Given the description of an element on the screen output the (x, y) to click on. 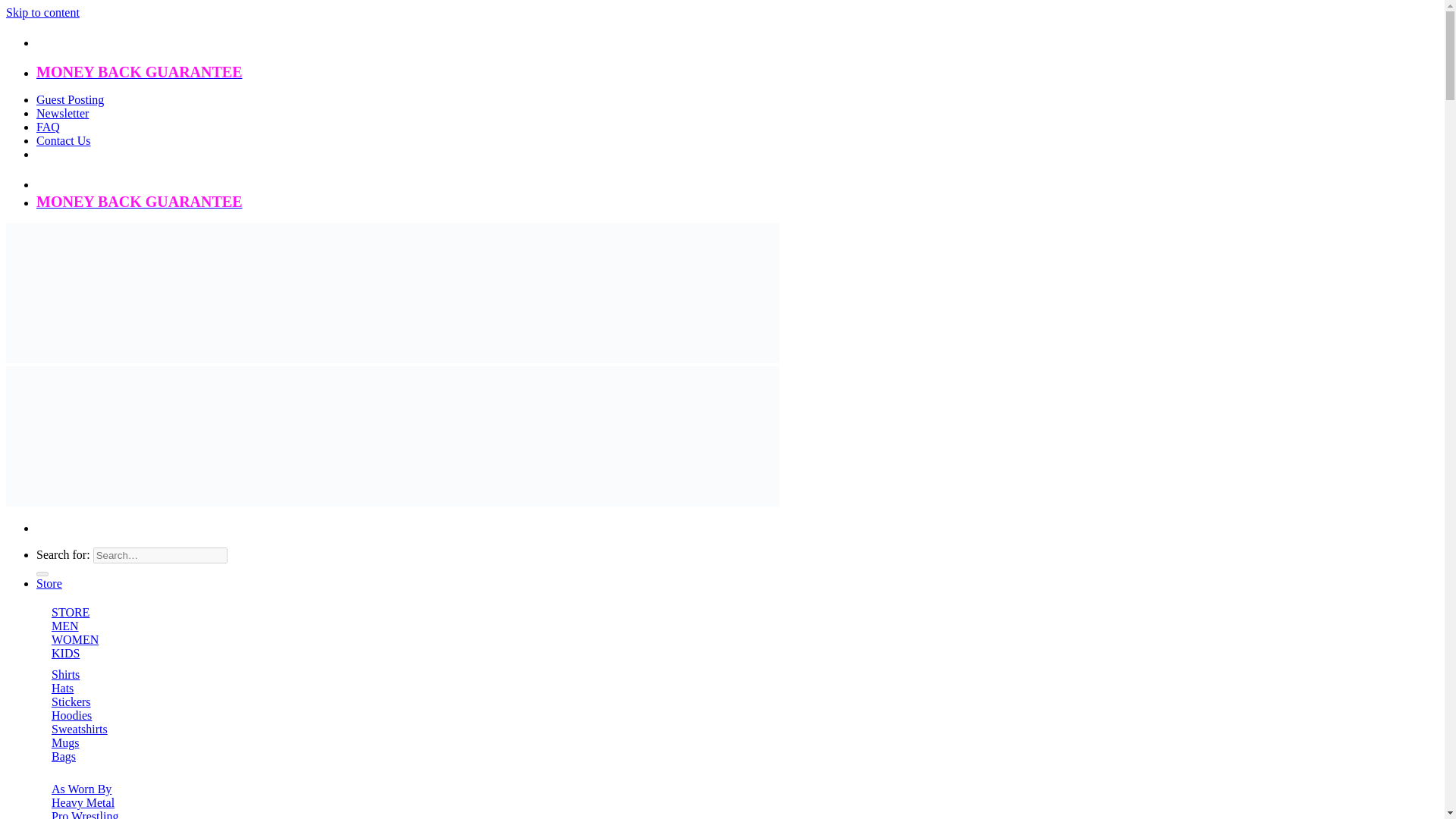
Store (49, 583)
Sweatshirts (78, 728)
STORE (69, 612)
Guest Posting (69, 99)
Hoodies (70, 715)
Newsletter (62, 113)
Heavy Metal (82, 802)
MEN (64, 625)
Pro Wrestling (83, 814)
Skip to content (42, 11)
